Given the description of an element on the screen output the (x, y) to click on. 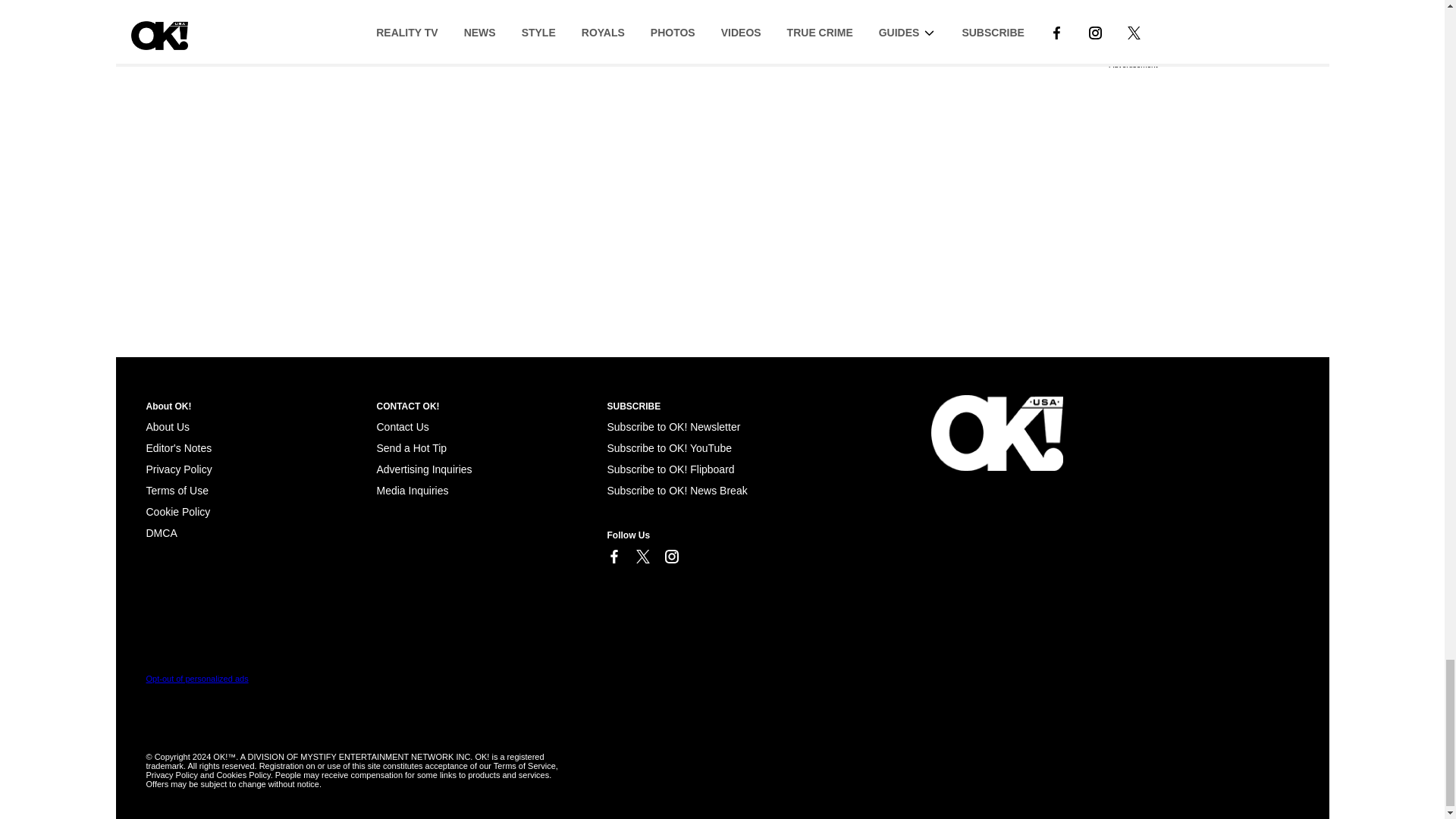
Subscribe to OK! Magazine on YouTube (668, 448)
Terms of Use (176, 490)
About Us (167, 426)
Link to X (641, 556)
Advertising Inquiries (423, 469)
Send a Hot Tip (410, 448)
Cookie Policy (160, 532)
Contact Us (401, 426)
Link to Instagram (670, 556)
Privacy Policy (178, 469)
